Given the description of an element on the screen output the (x, y) to click on. 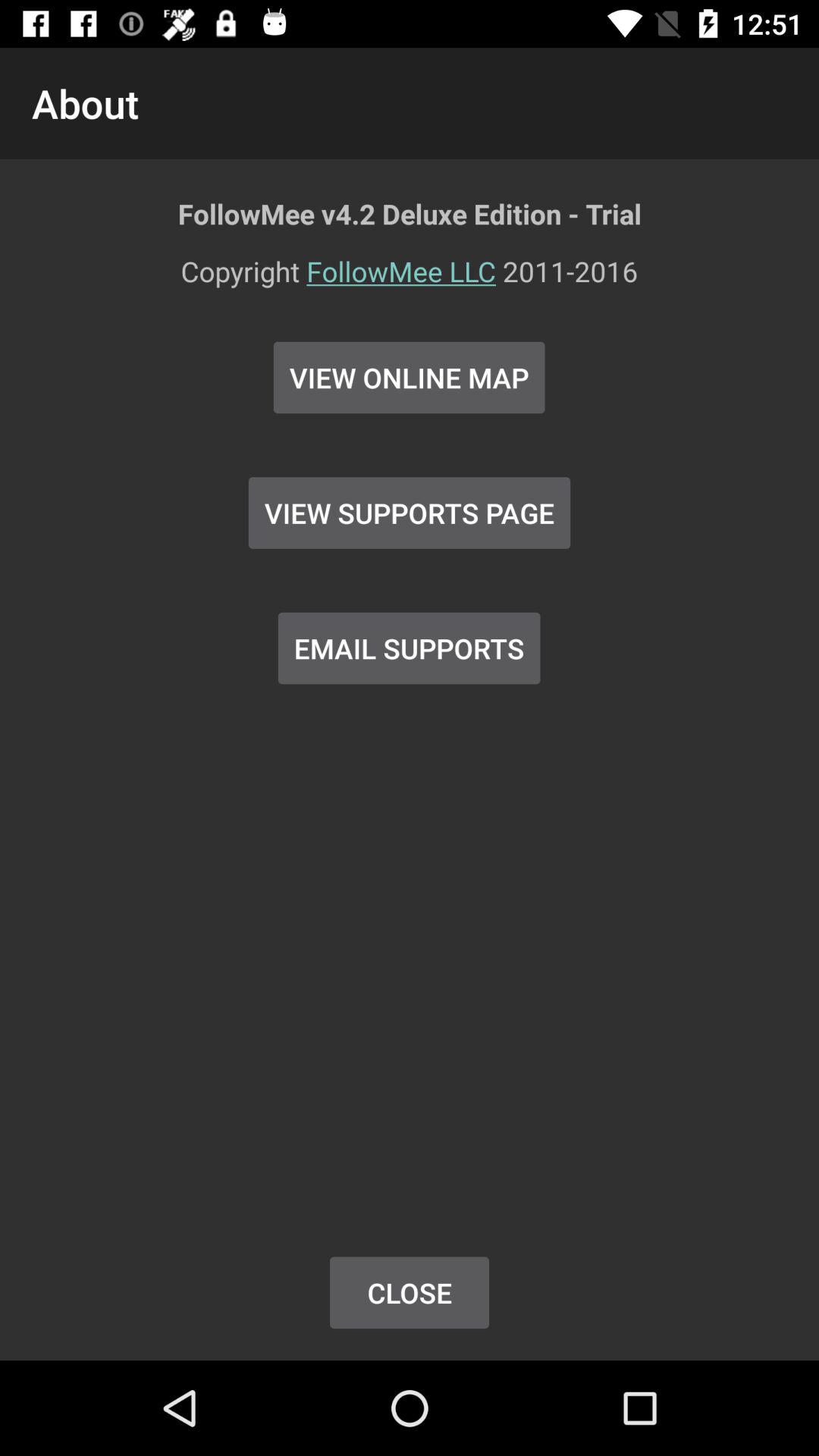
click the email supports item (409, 648)
